Given the description of an element on the screen output the (x, y) to click on. 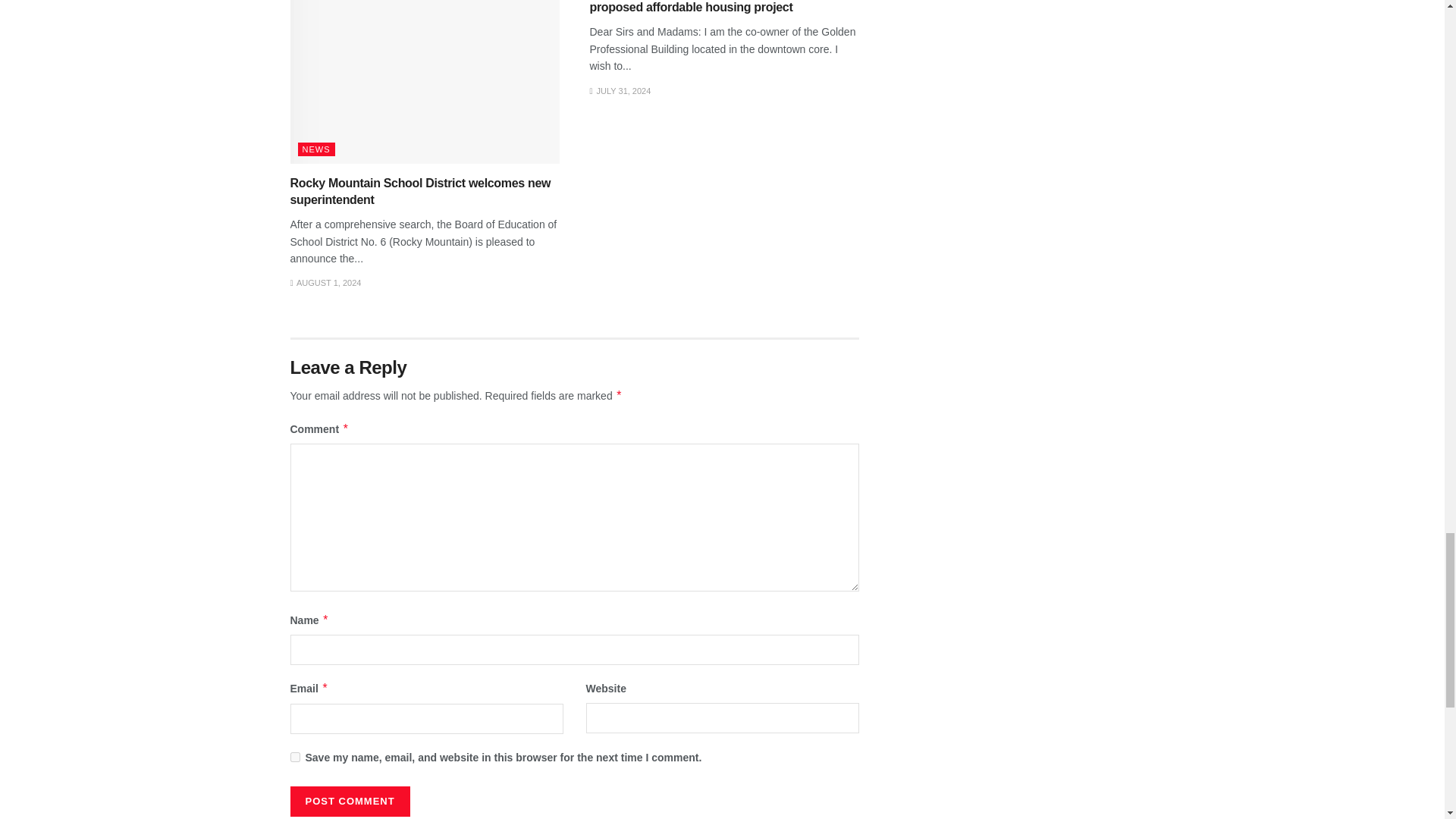
Post Comment (349, 801)
yes (294, 757)
